Given the description of an element on the screen output the (x, y) to click on. 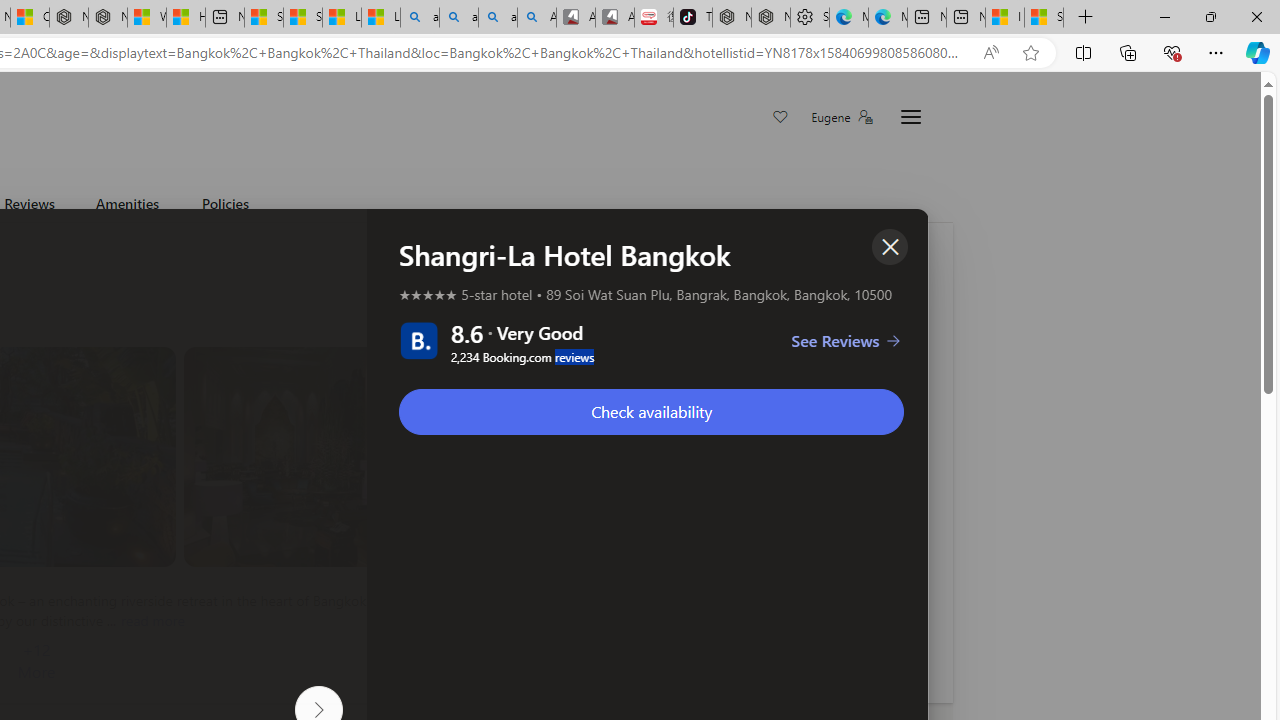
TikTok (692, 17)
Nordace - Best Sellers (732, 17)
I Gained 20 Pounds of Muscle in 30 Days! | Watch (1004, 17)
Huge shark washes ashore at New York City beach | Watch (185, 17)
